Given the description of an element on the screen output the (x, y) to click on. 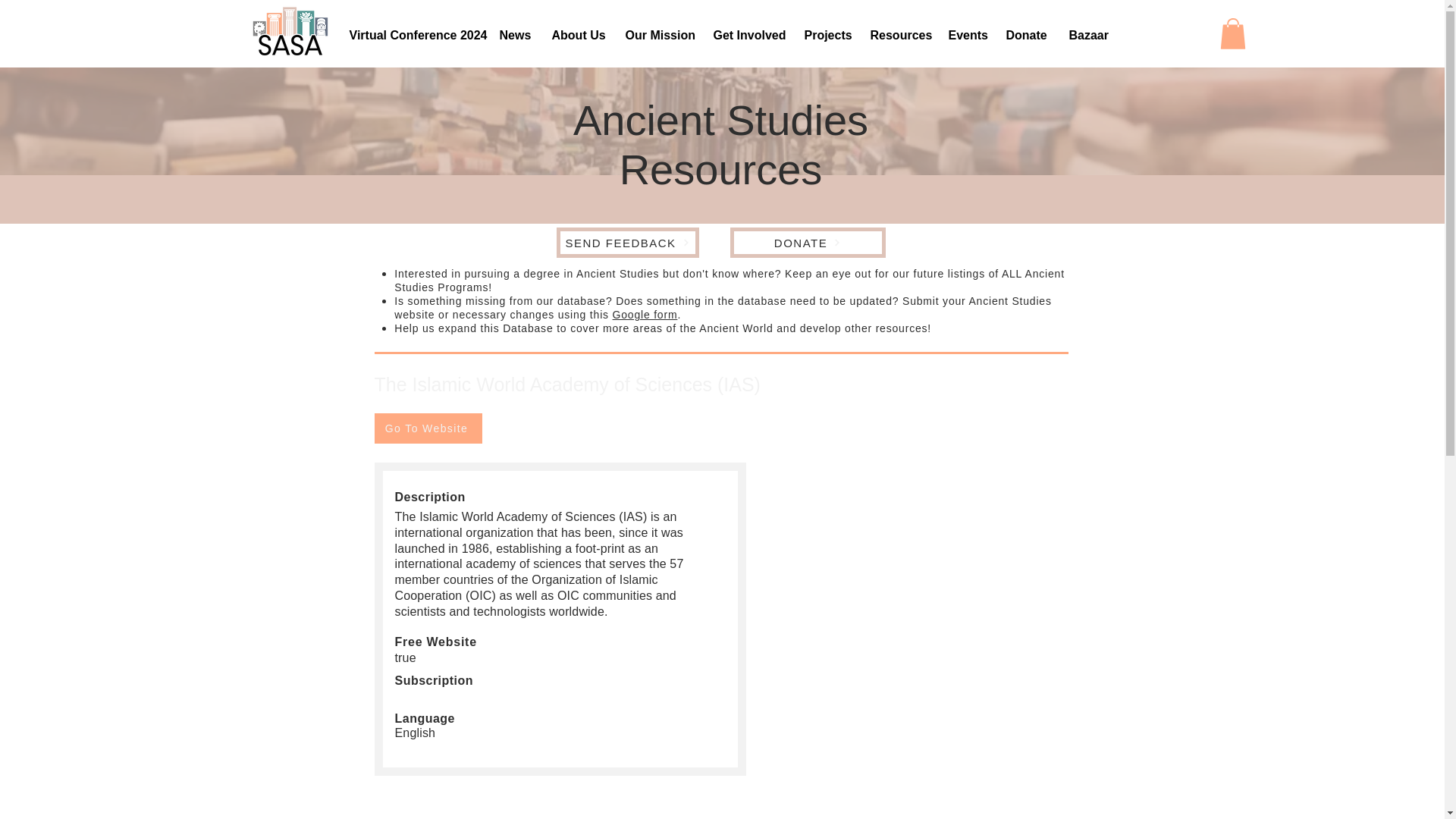
Our Mission (657, 35)
News (513, 35)
Bazaar (1086, 35)
Events (965, 35)
About Us (576, 35)
Virtual Conference 2024 (412, 35)
Get Involved (747, 35)
Resources (897, 35)
Projects (826, 35)
Donate (1026, 35)
